Given the description of an element on the screen output the (x, y) to click on. 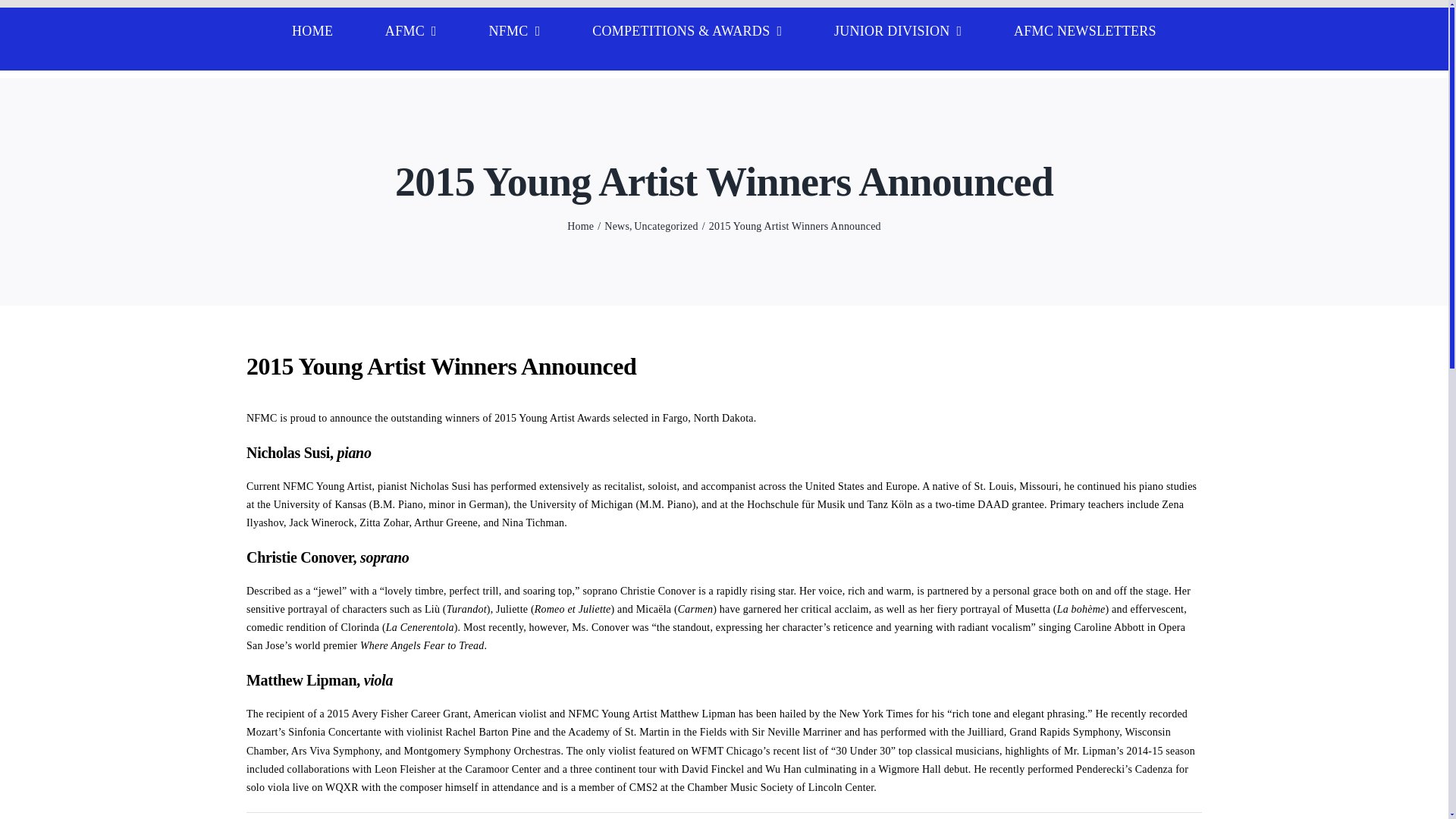
JUNIOR DIVISION (897, 31)
NFMC (514, 31)
AFMC (410, 31)
HOME (311, 31)
